Given the description of an element on the screen output the (x, y) to click on. 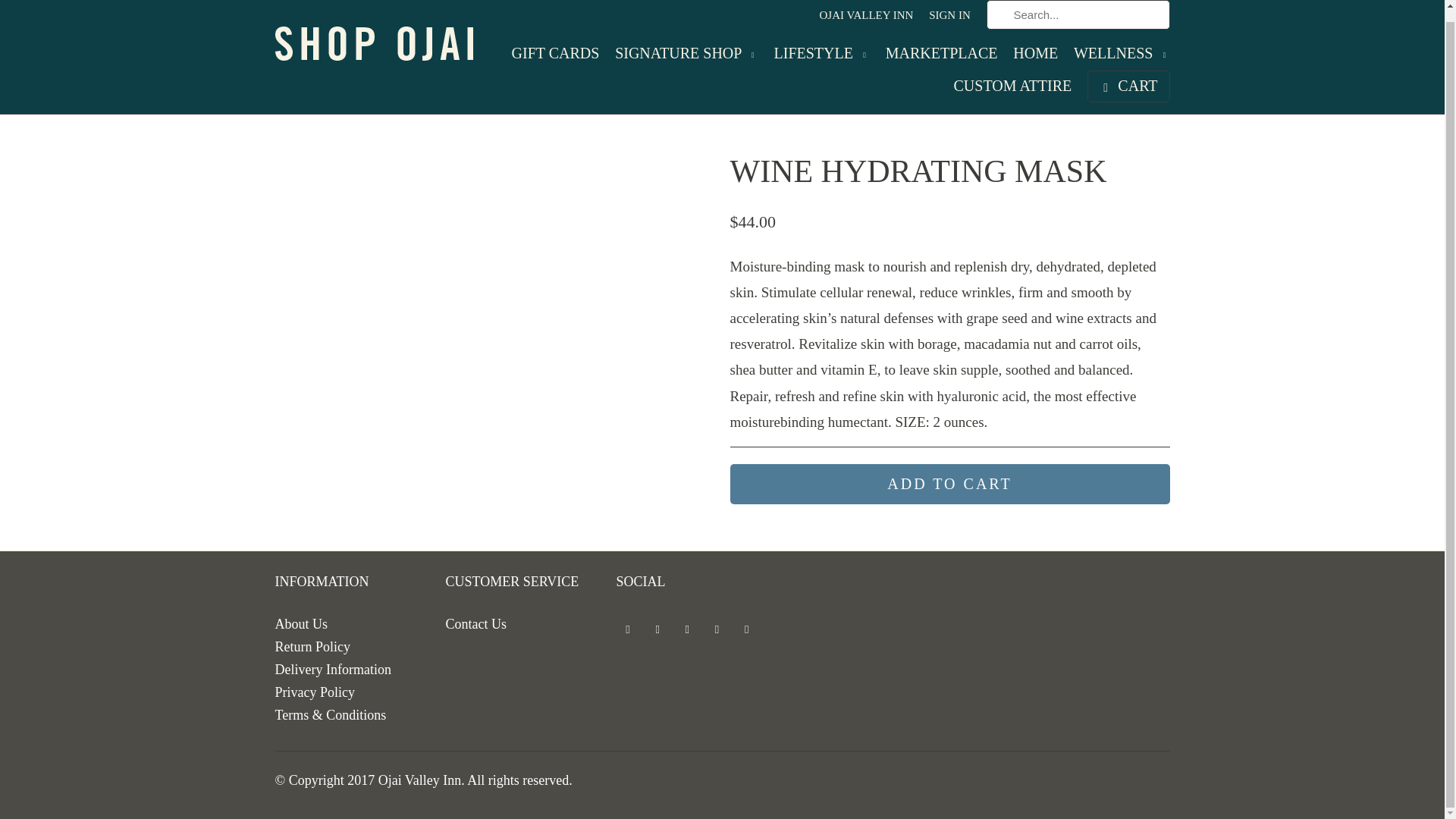
OJAI VALLEY INN (866, 18)
Shop Ojai on Pinterest (686, 628)
Return Policy (312, 646)
Shop Ojai on Instagram (716, 628)
HOME (1035, 56)
CART (1128, 86)
MARKETPLACE (941, 56)
Shop Ojai (380, 33)
CUSTOM ATTIRE (1012, 88)
ADD TO CART (949, 484)
SIGNATURE SHOP (686, 57)
Shop Ojai on Facebook (657, 628)
Email Shop Ojai (746, 628)
Delivery Information (332, 669)
Contact Us (475, 623)
